Given the description of an element on the screen output the (x, y) to click on. 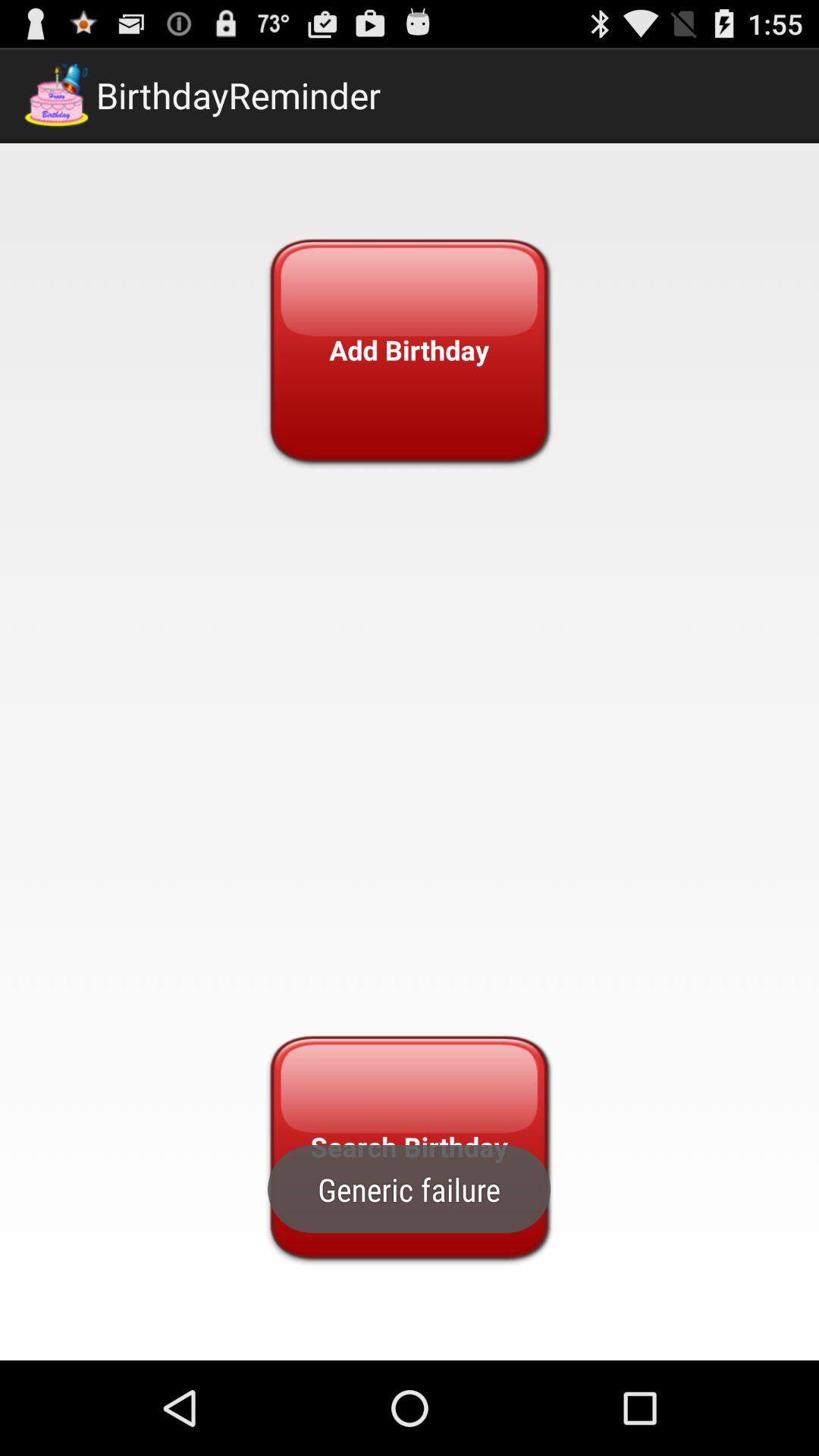
select icon below add birthday item (408, 1146)
